Given the description of an element on the screen output the (x, y) to click on. 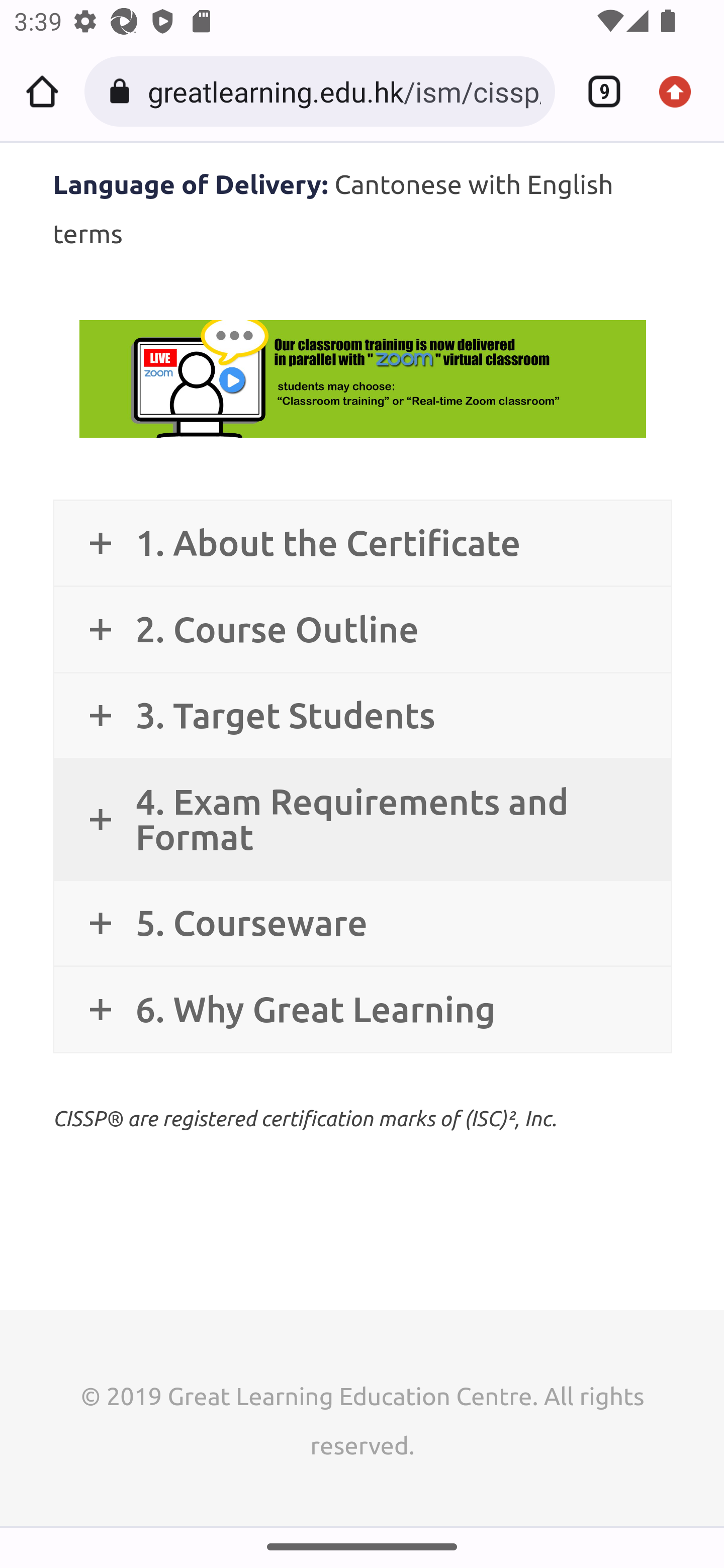
Home (42, 91)
Connection is secure (122, 91)
Switch or close tabs (597, 91)
Update available. More options (681, 91)
5. Courseware 5. Courseware 5. Courseware (361, 924)
